Given the description of an element on the screen output the (x, y) to click on. 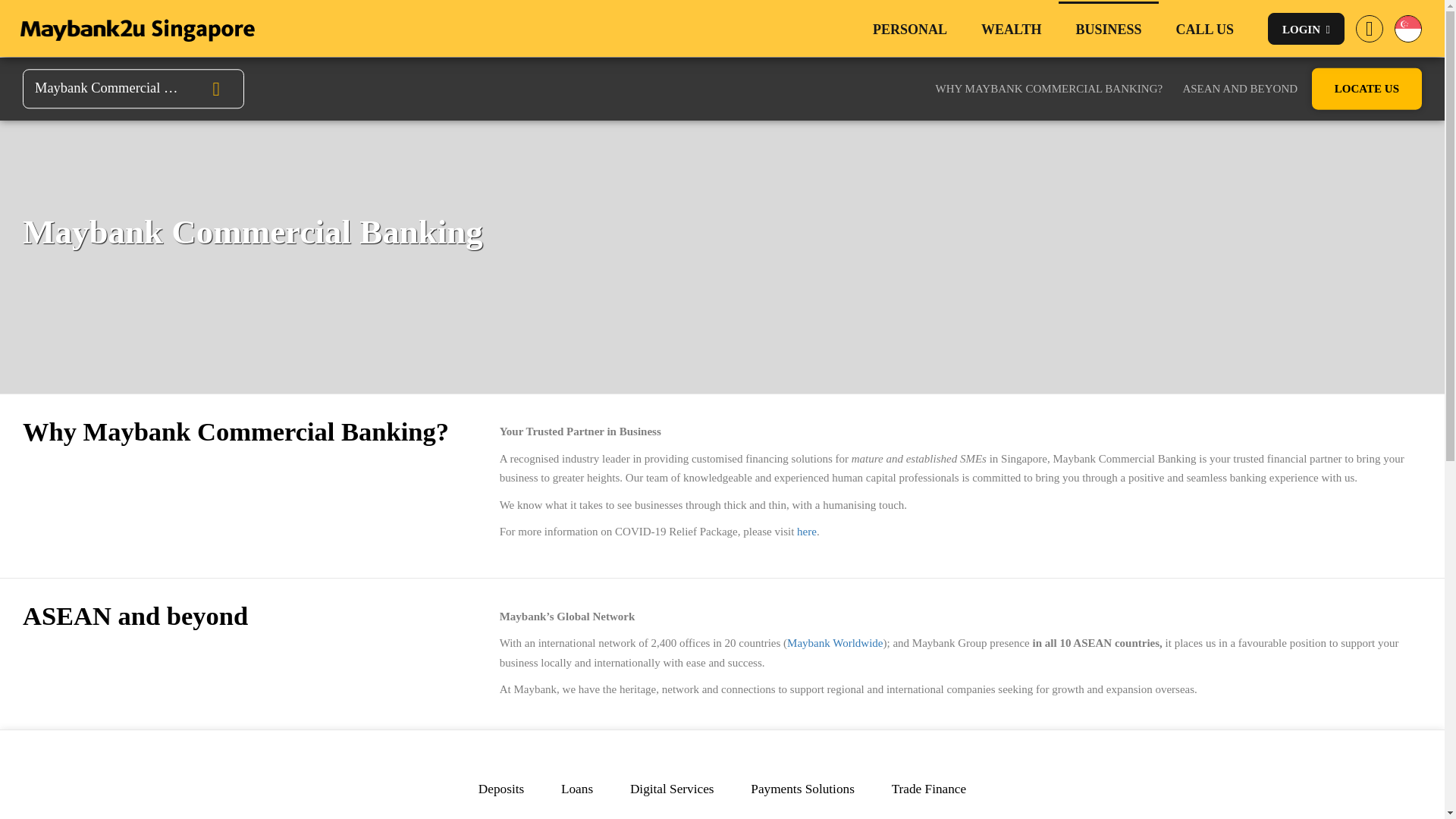
Maybank2u.com.sg (135, 27)
WHY MAYBANK COMMERCIAL BANKING? ASEAN AND BEYOND (1107, 89)
PERSONAL (909, 28)
